Given the description of an element on the screen output the (x, y) to click on. 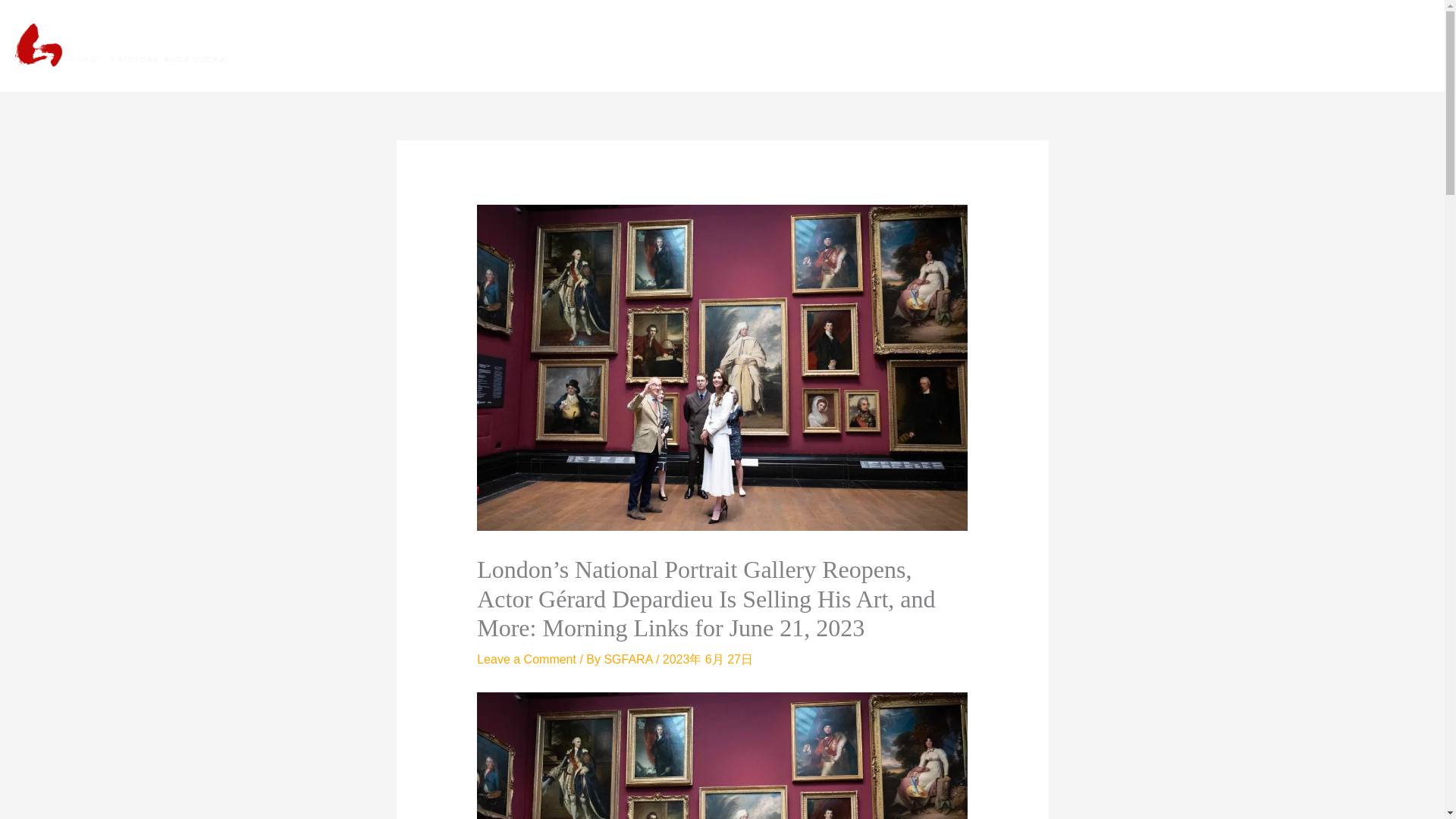
ArtNews (1011, 45)
Artitsts (1146, 45)
Leave a Comment (526, 658)
SGFARA (629, 658)
Member Login (1303, 45)
Home (883, 45)
About (944, 45)
Join US (1393, 45)
Events (1080, 45)
View all posts by SGFARA (629, 658)
